Given the description of an element on the screen output the (x, y) to click on. 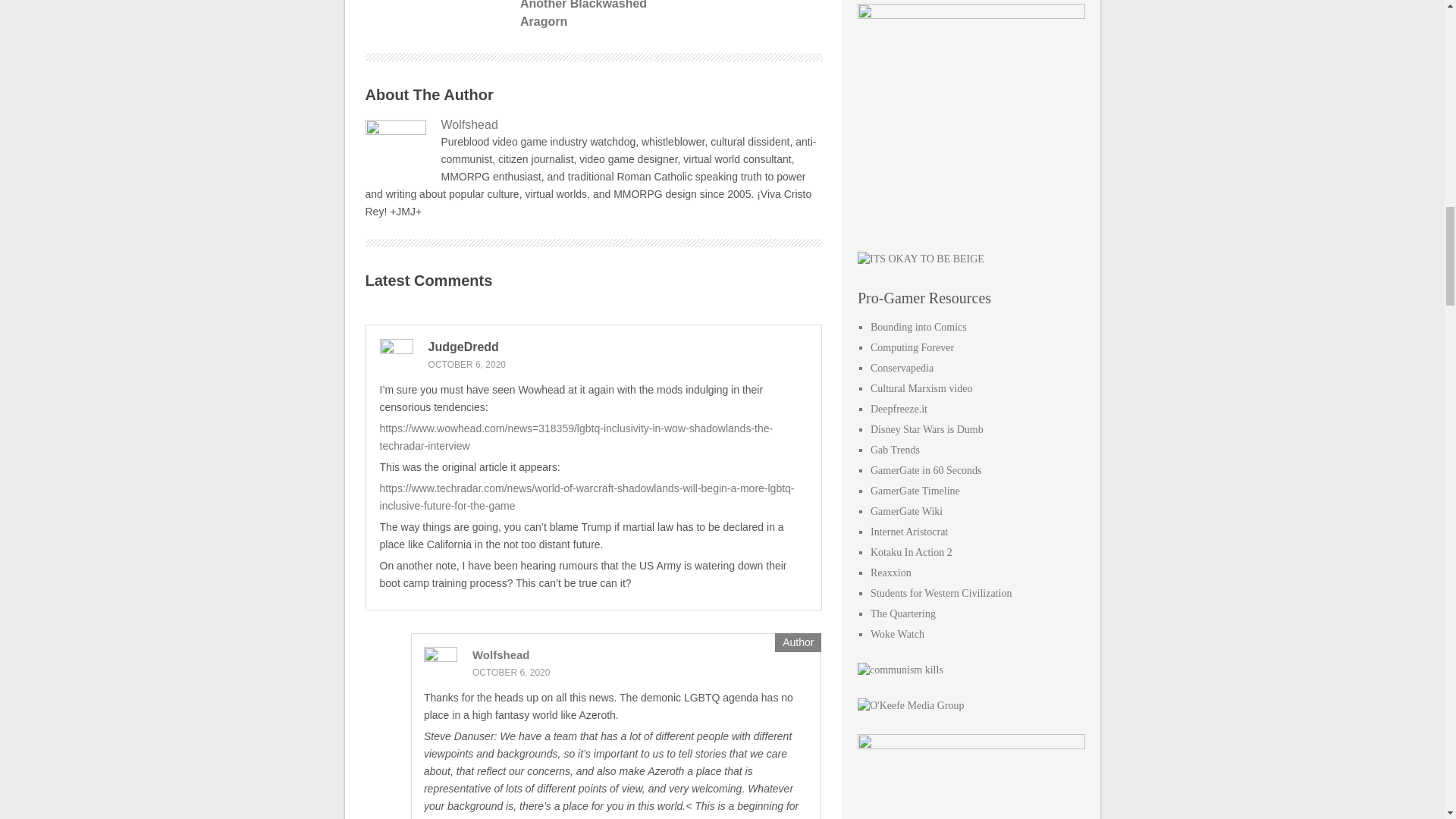
Wolfshead (500, 654)
Wolfshead (593, 125)
